Given the description of an element on the screen output the (x, y) to click on. 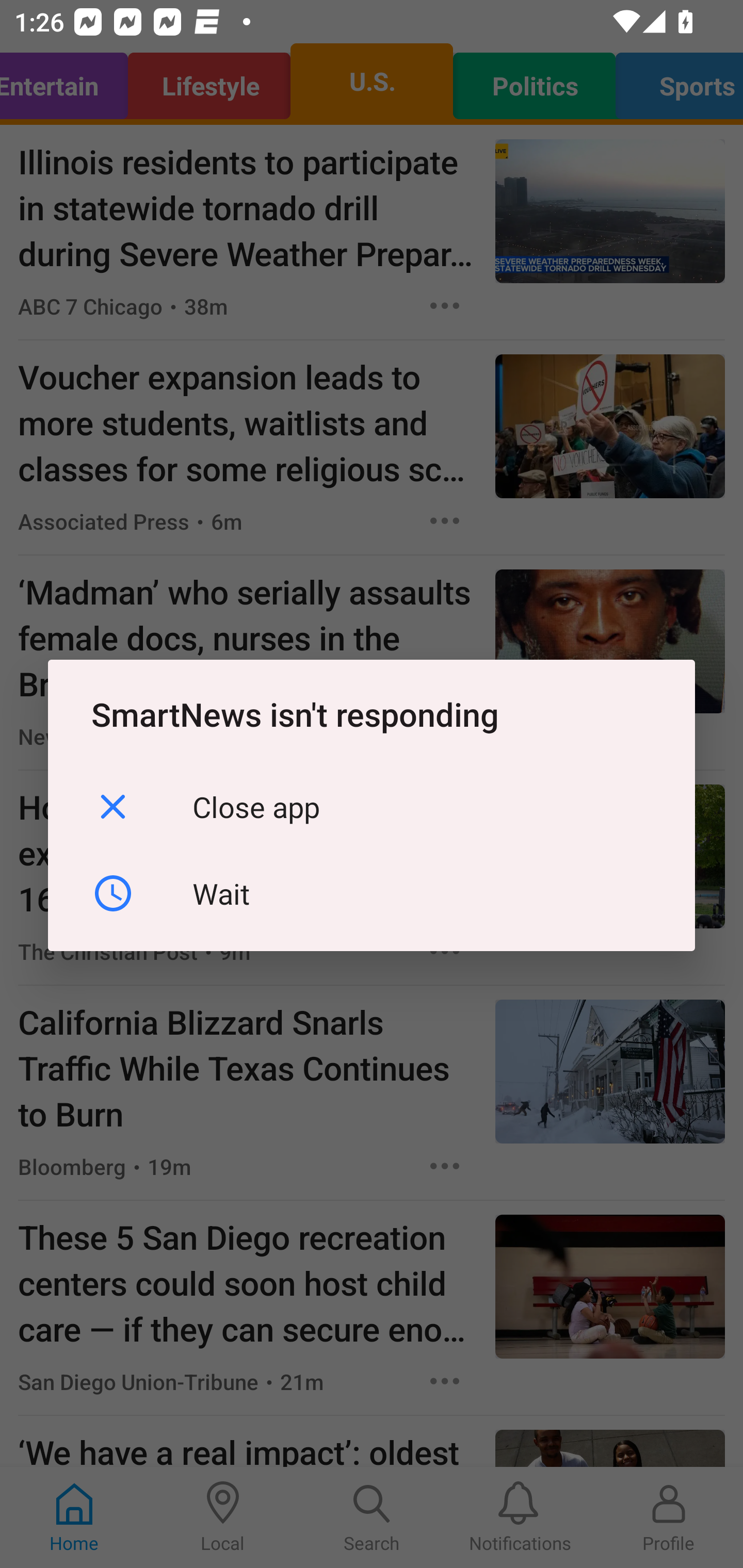
Close app (371, 806)
Wait (371, 892)
